Given the description of an element on the screen output the (x, y) to click on. 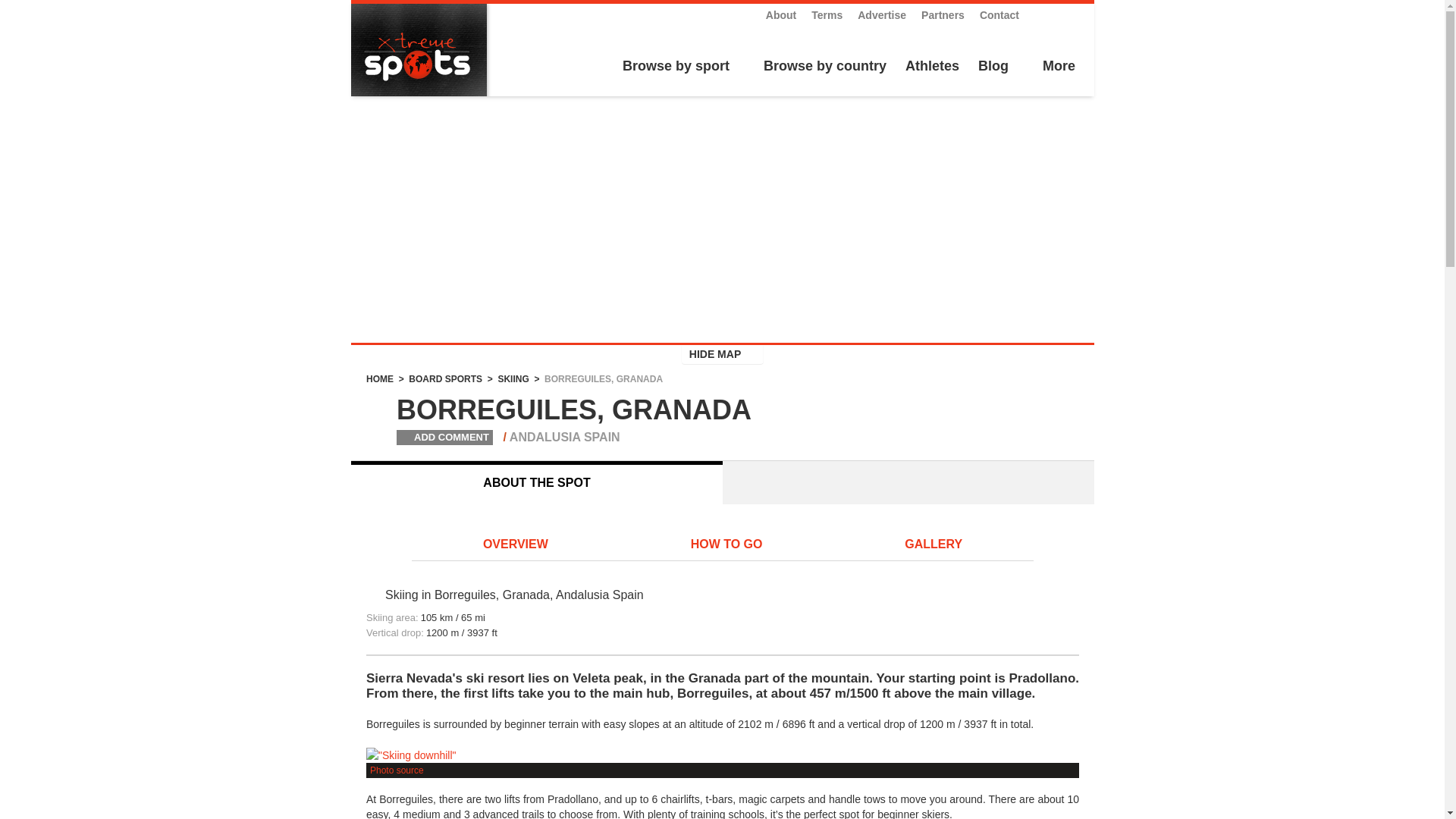
Browse by country (823, 67)
BOARD SPORTS (445, 378)
Contact (999, 15)
Athletes (932, 67)
SKIING (512, 378)
Partners (942, 15)
GALLERY (932, 545)
HOW TO GO (727, 545)
More (1056, 67)
Browse by sport (674, 67)
